Given the description of an element on the screen output the (x, y) to click on. 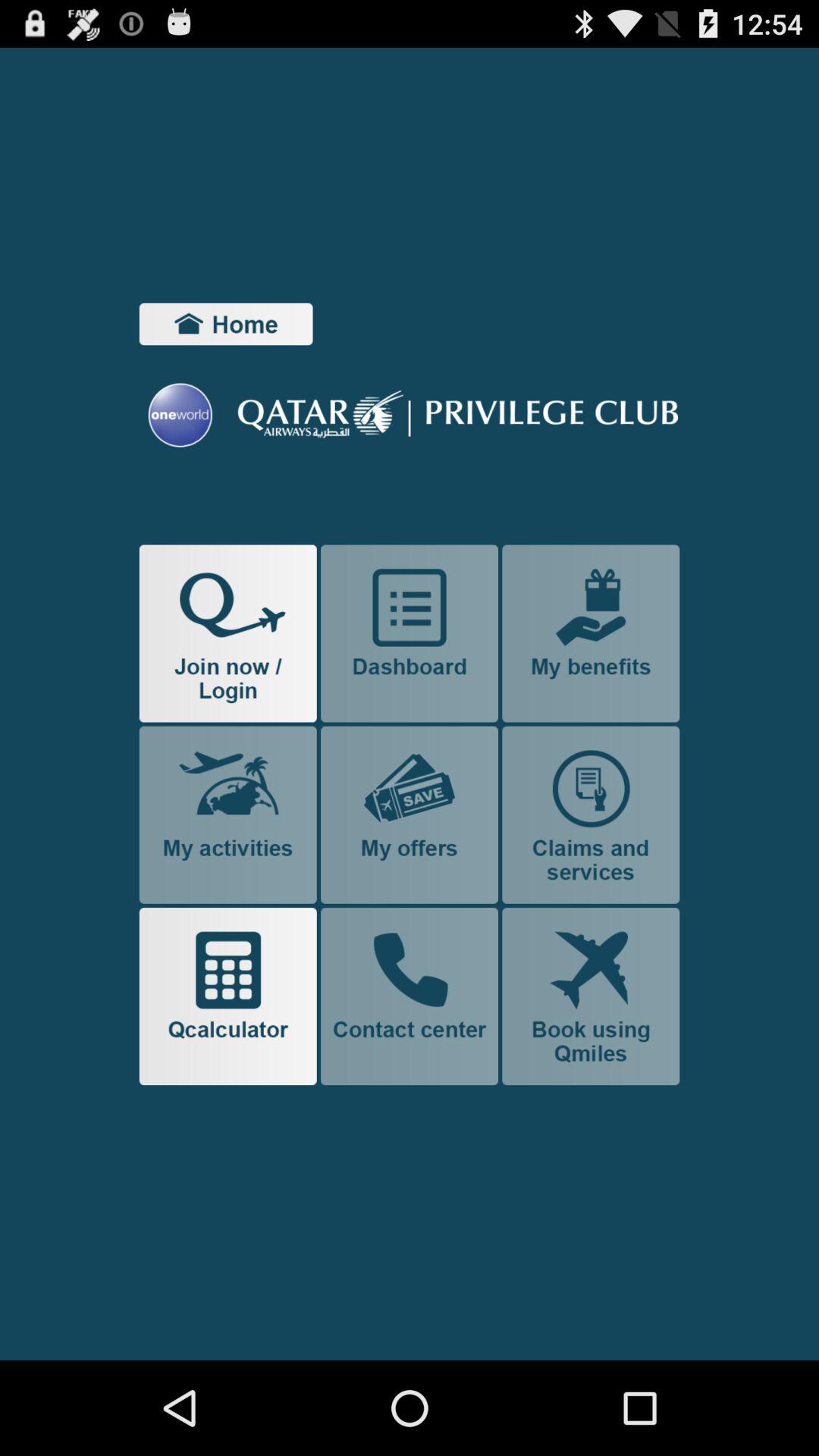
contact the help center (409, 996)
